Given the description of an element on the screen output the (x, y) to click on. 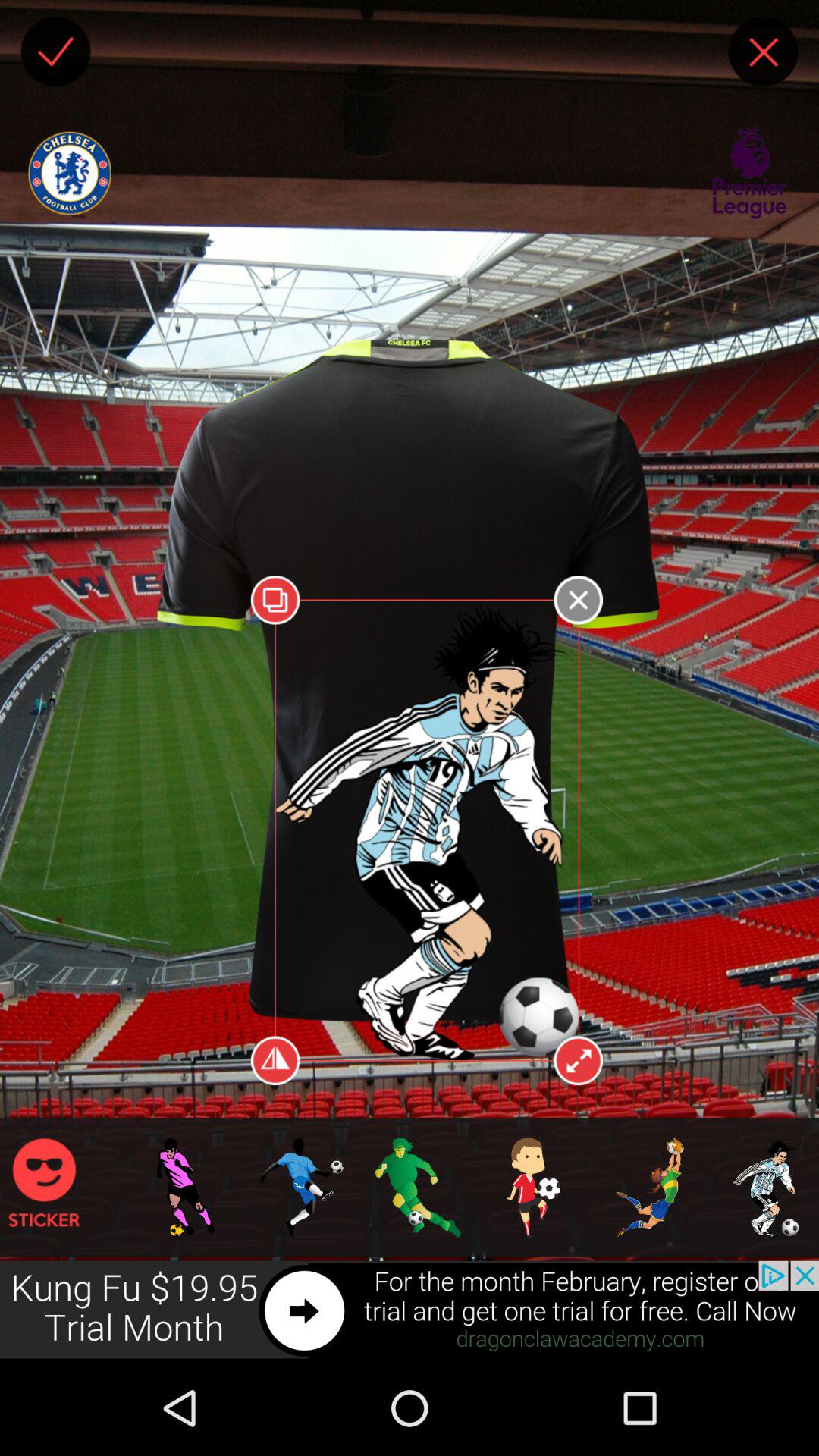
football shirt (149, 969)
